Given the description of an element on the screen output the (x, y) to click on. 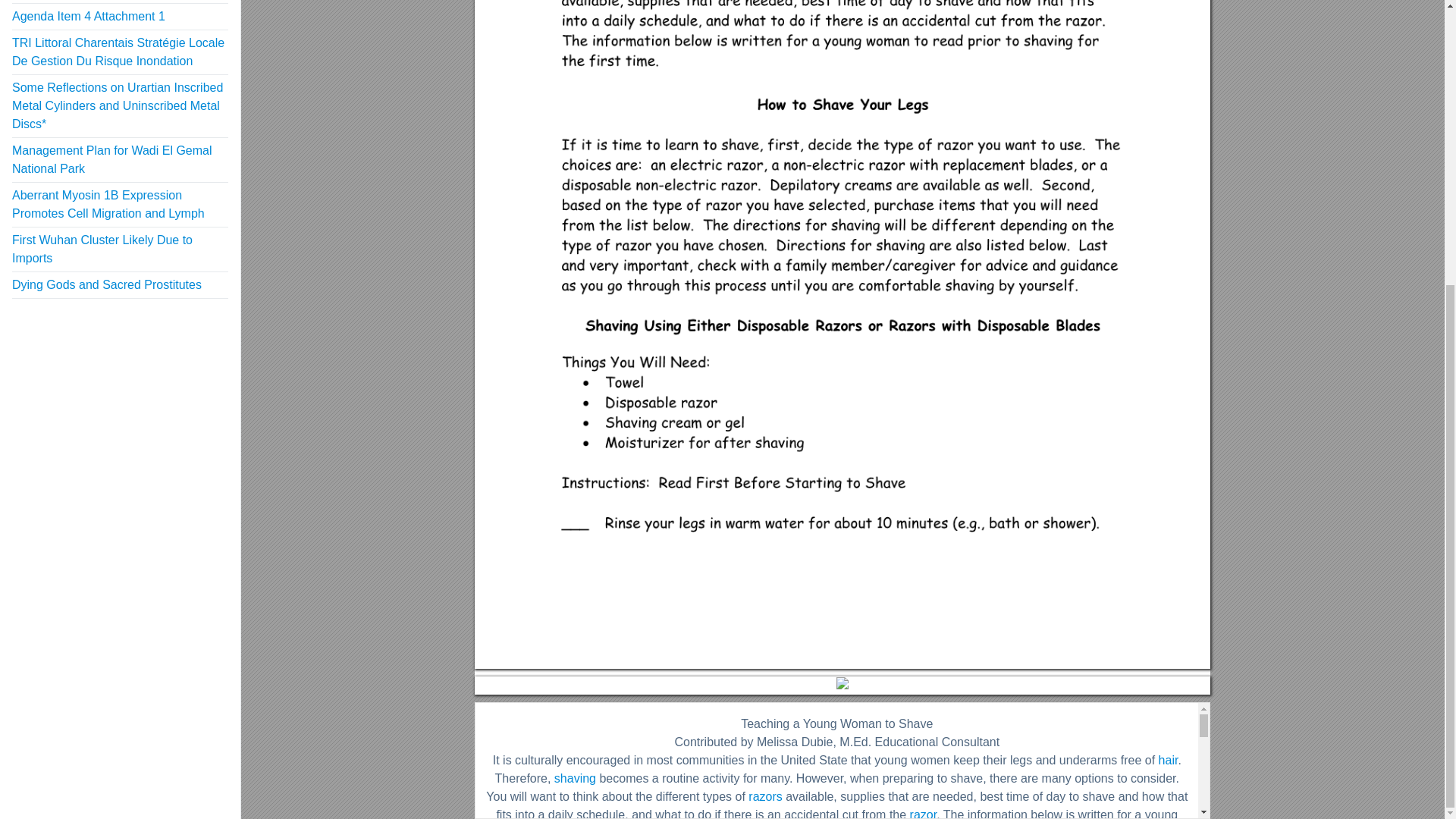
shaving (574, 778)
razors (764, 796)
Dying Gods and Sacred Prostitutes (106, 284)
hair (1167, 759)
Agenda Item 4 Attachment 1 (88, 15)
Management Plan for Wadi El Gemal National Park (111, 159)
First Wuhan Cluster Likely Due to Imports (101, 248)
